Given the description of an element on the screen output the (x, y) to click on. 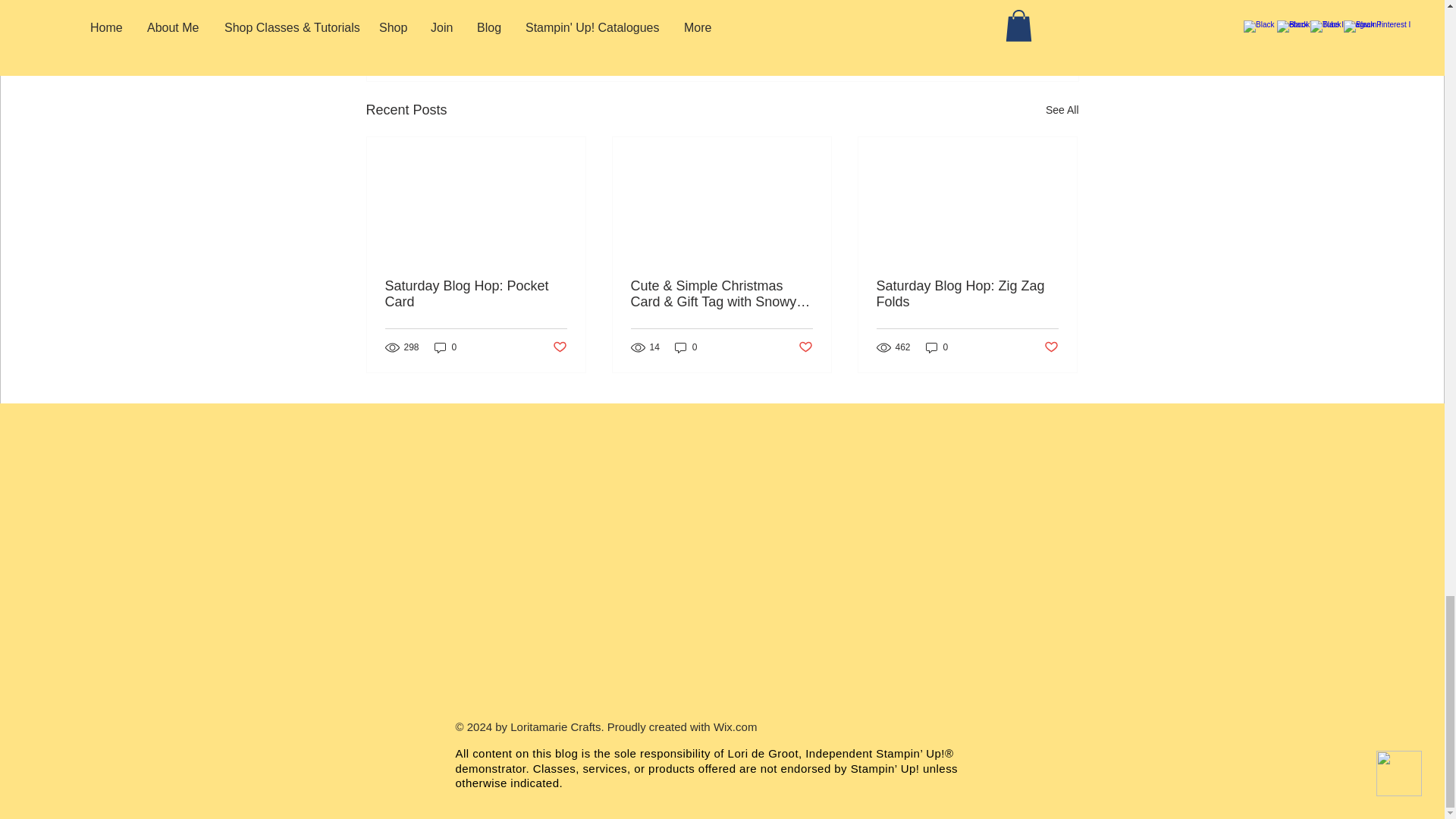
0 (685, 347)
Post not marked as liked (558, 347)
Post not marked as liked (804, 347)
Saturday Blog Hop: Pocket Card (476, 294)
Saturday Blog Hop: Zig Zag Folds (967, 294)
See All (1061, 110)
Post not marked as liked (995, 27)
0 (445, 347)
